Given the description of an element on the screen output the (x, y) to click on. 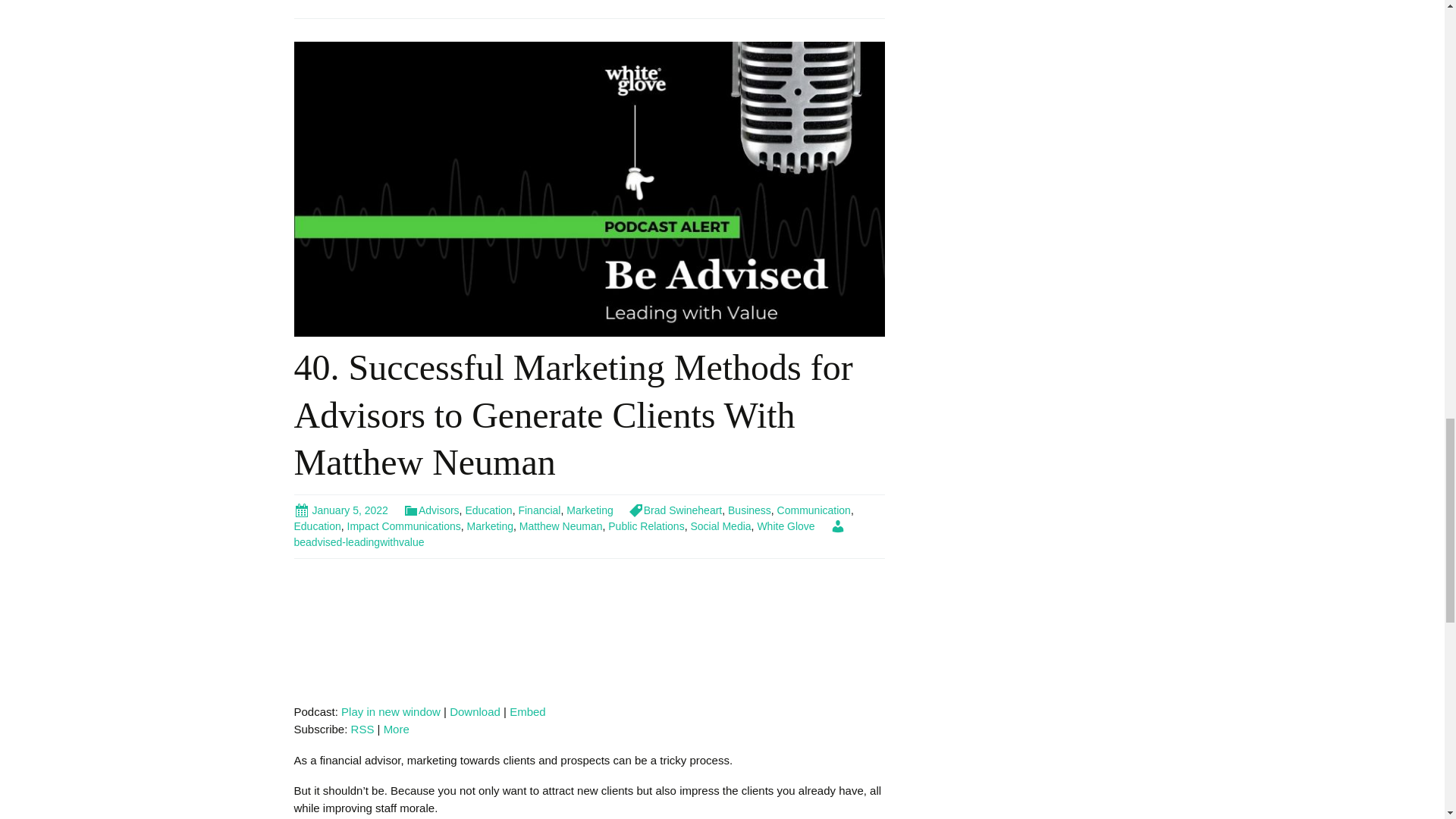
January 5, 2022 (341, 510)
Subscribe via RSS (362, 728)
Embed (527, 711)
More (396, 728)
Blubrry Podcast Player (589, 632)
Play in new window (390, 711)
View all posts by beadvised-leadingwithvalue (569, 533)
Advisors (431, 510)
